Given the description of an element on the screen output the (x, y) to click on. 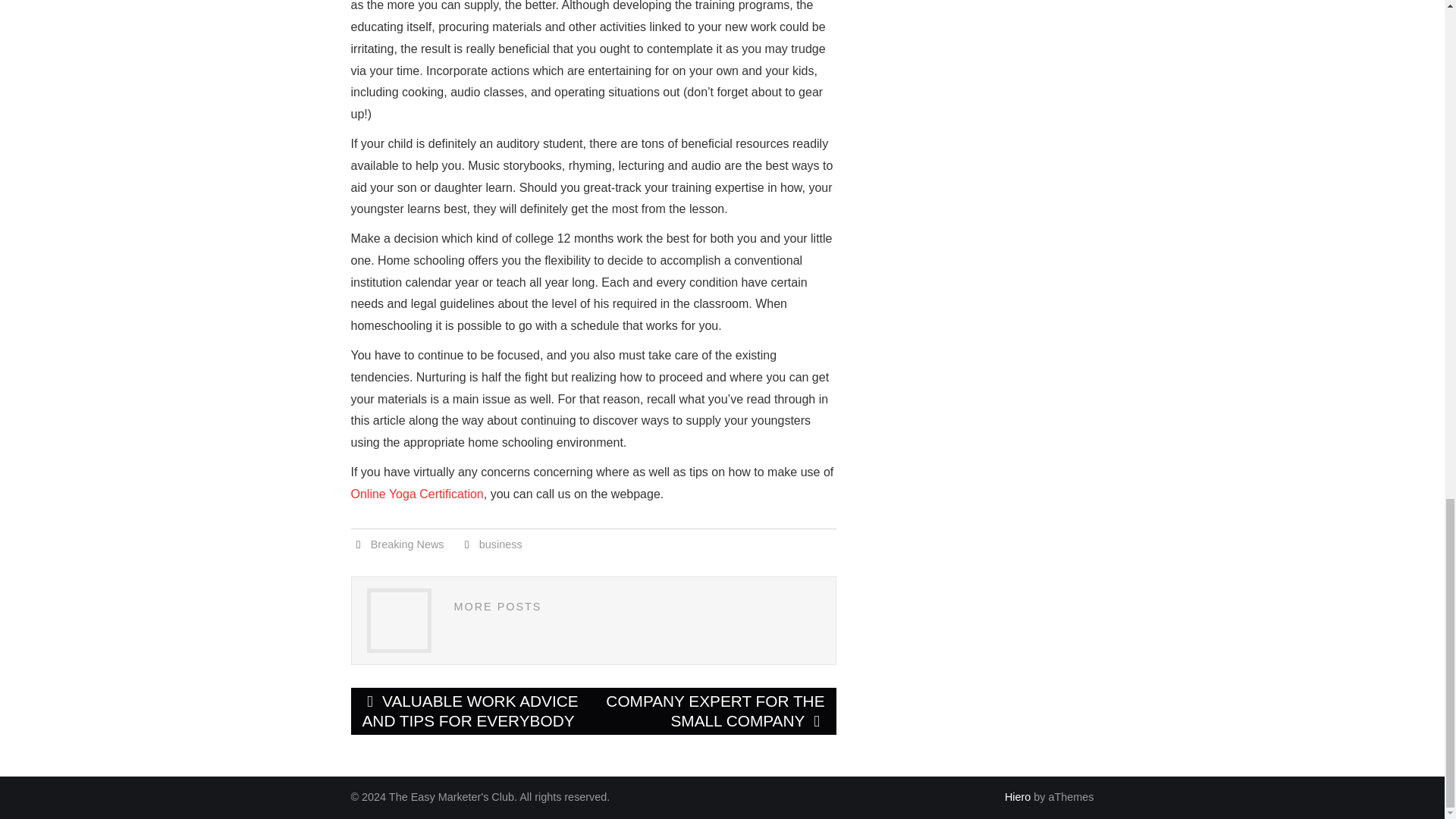
business (500, 544)
VALUABLE WORK ADVICE AND TIPS FOR EVERYBODY (471, 710)
MORE POSTS (496, 606)
Online Yoga Certification (416, 493)
Breaking News (407, 544)
COMPANY EXPERT FOR THE SMALL COMPANY (713, 710)
